Given the description of an element on the screen output the (x, y) to click on. 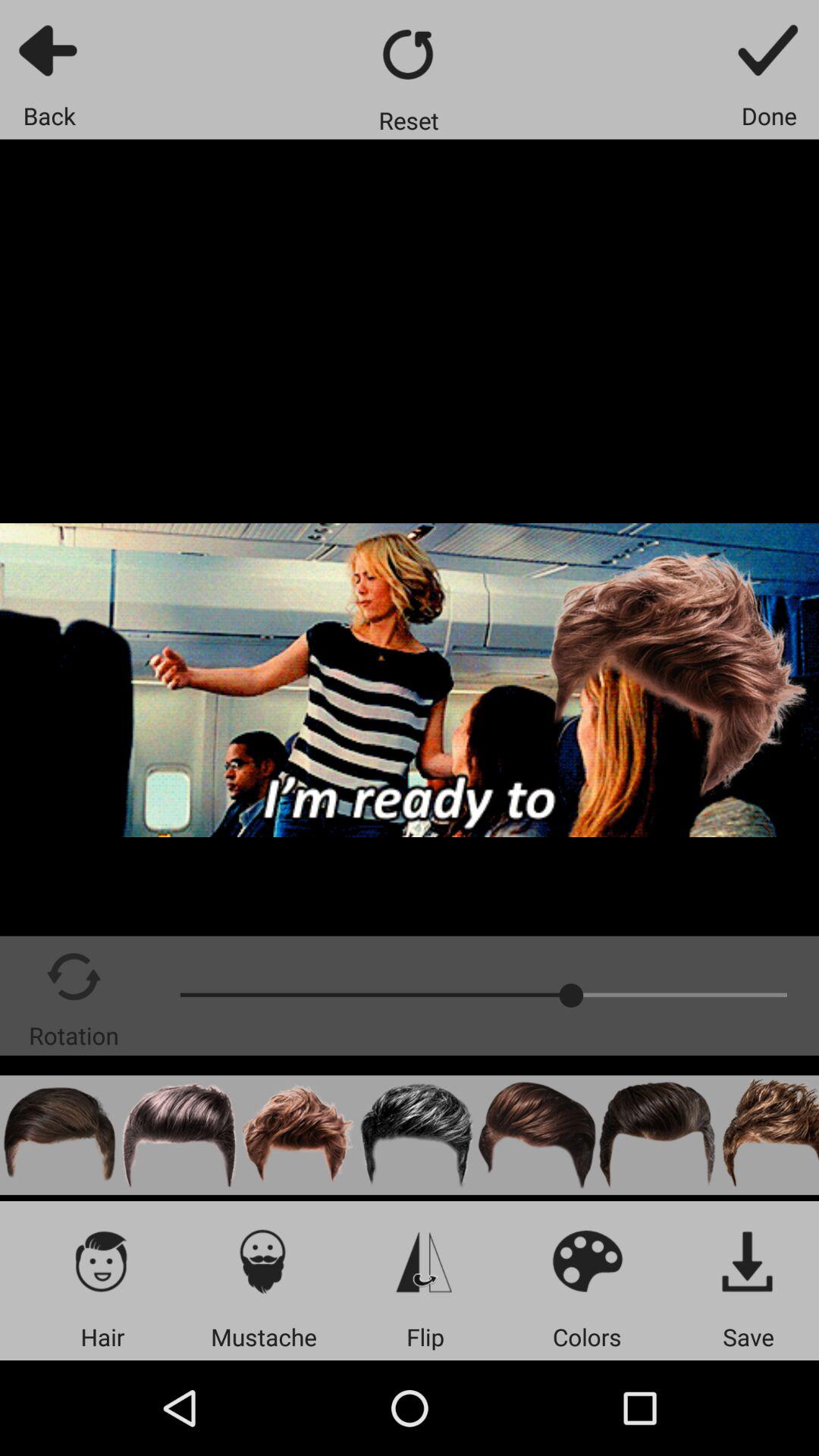
select hairstyle (417, 1134)
